Given the description of an element on the screen output the (x, y) to click on. 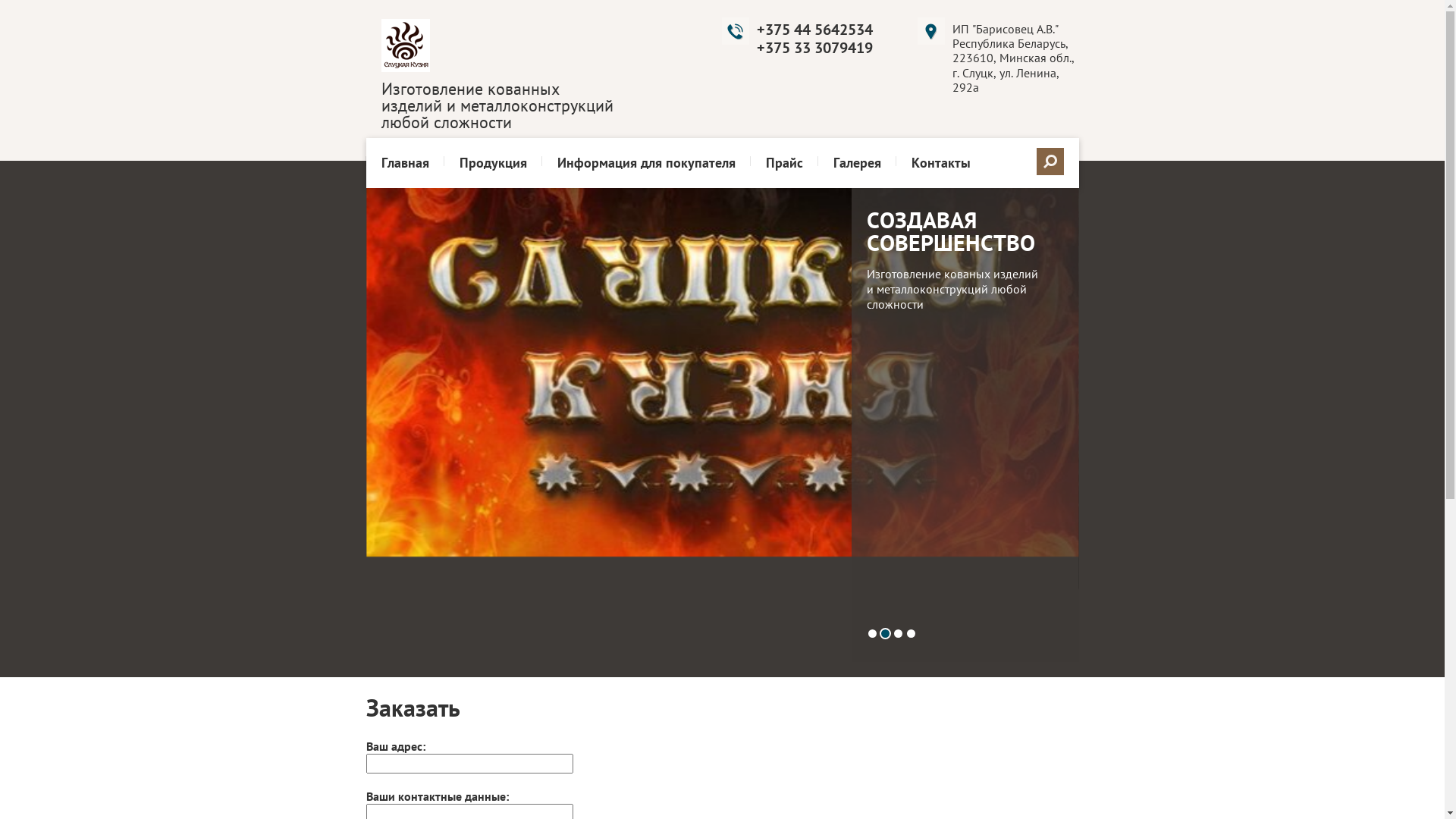
+375 44 5642534 Element type: text (814, 29)
+375 33 3079419 Element type: text (814, 47)
